Given the description of an element on the screen output the (x, y) to click on. 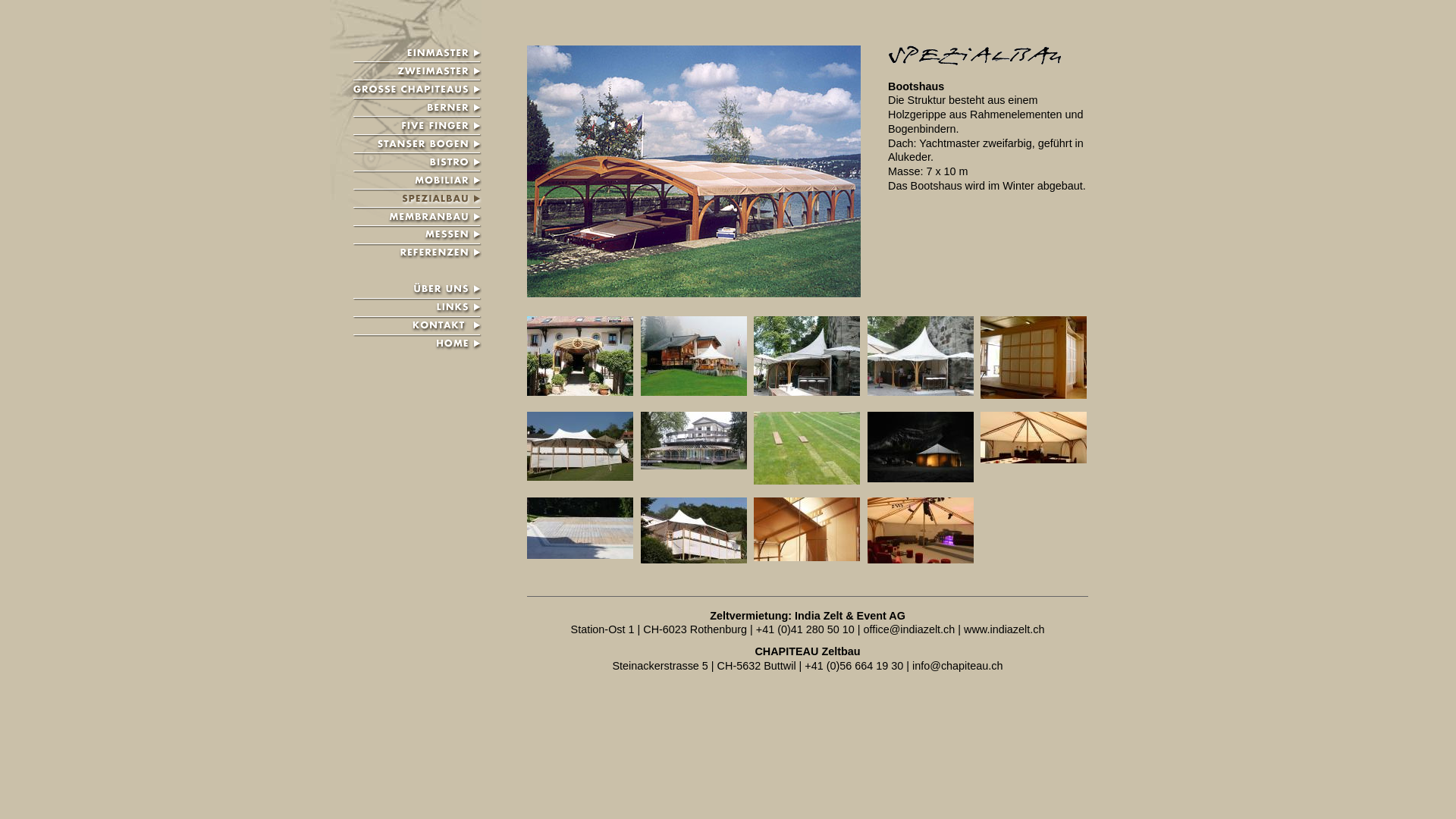
info@chapiteau.ch Element type: text (957, 665)
office@indiazelt.ch Element type: text (909, 629)
www.indiazelt.ch Element type: text (1003, 629)
